Given the description of an element on the screen output the (x, y) to click on. 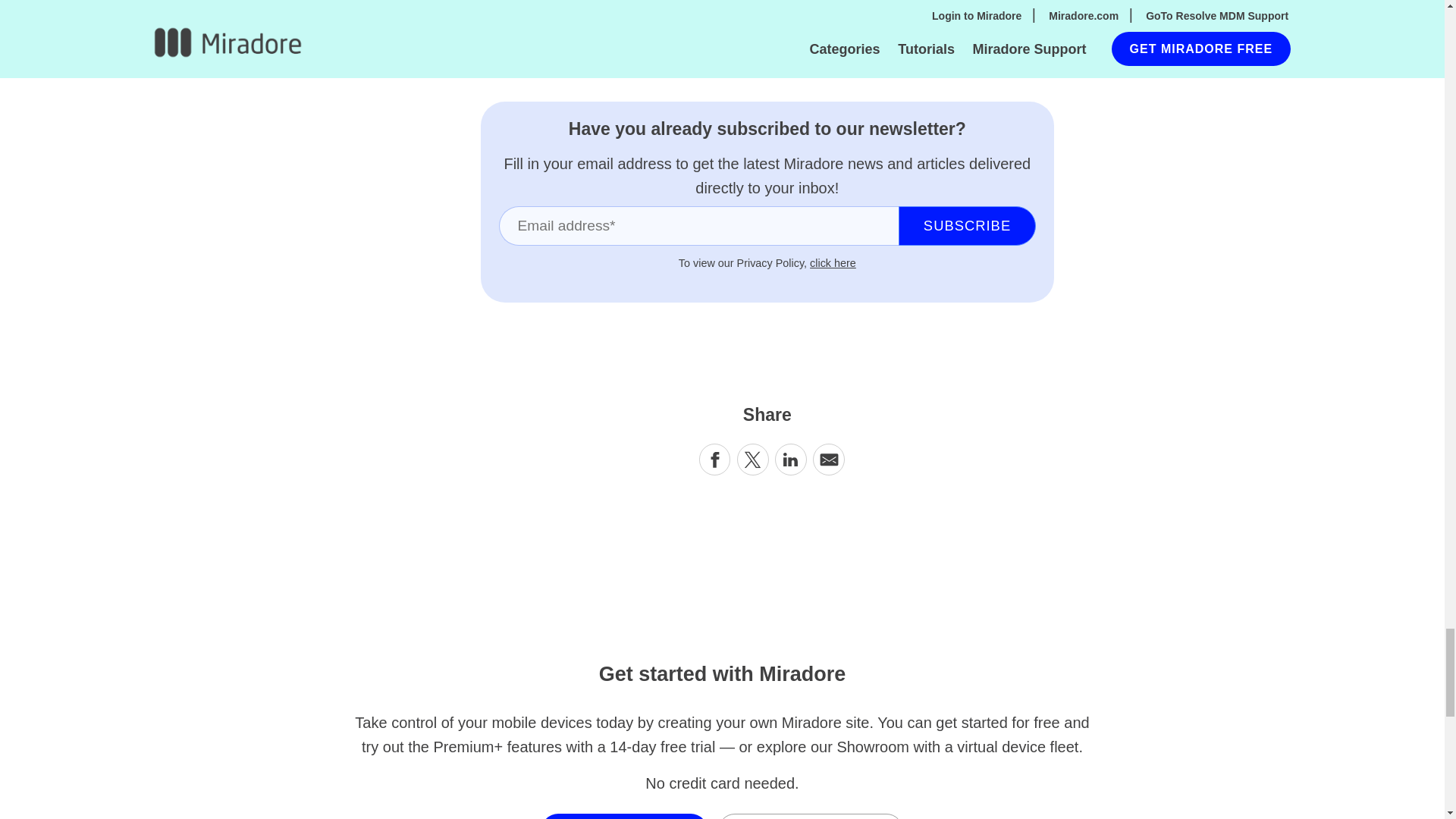
Email (828, 459)
LinkedIn (791, 460)
Facebook (714, 460)
X (752, 460)
Subscribe (966, 226)
